Given the description of an element on the screen output the (x, y) to click on. 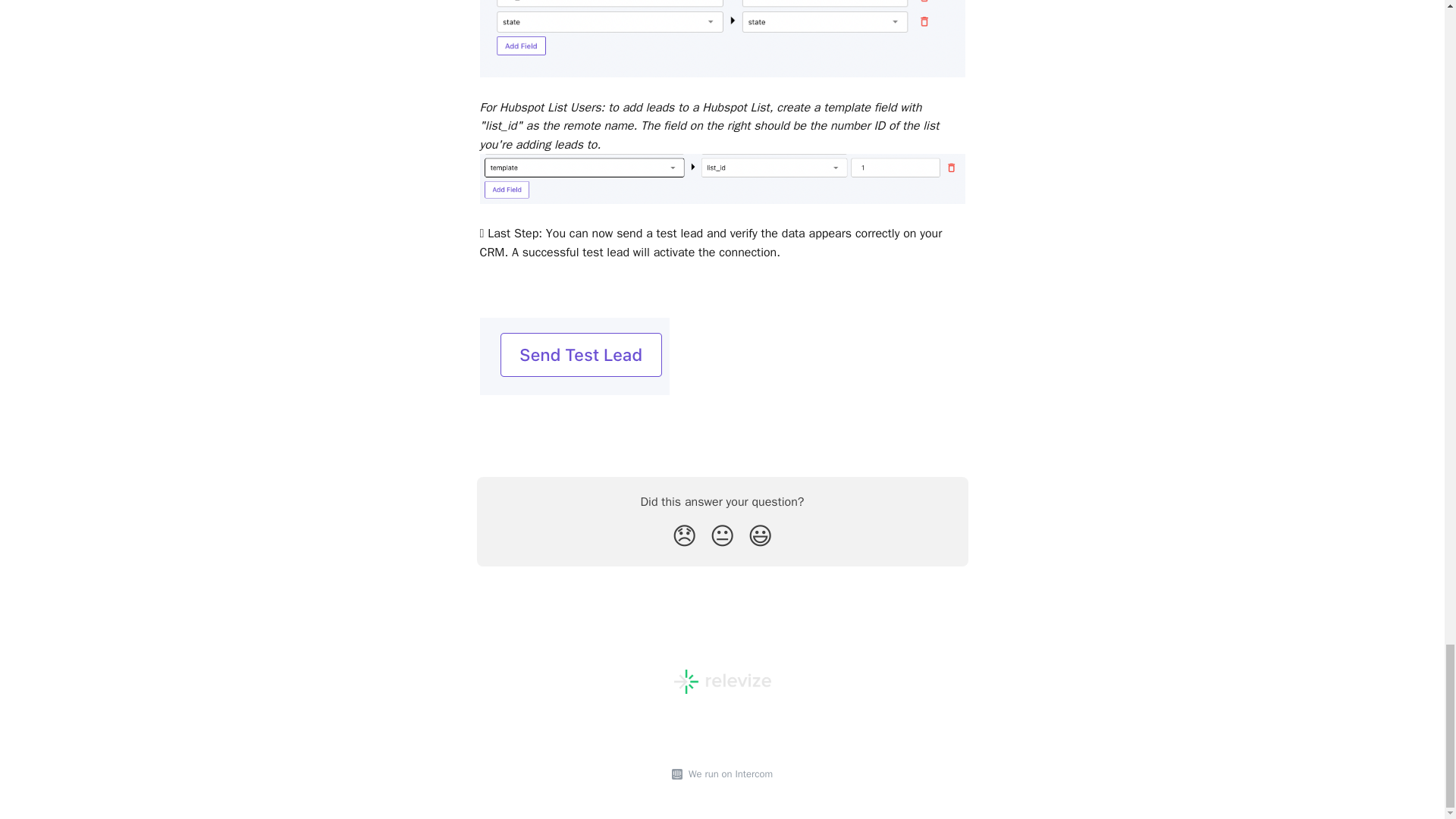
We run on Intercom (727, 774)
